Given the description of an element on the screen output the (x, y) to click on. 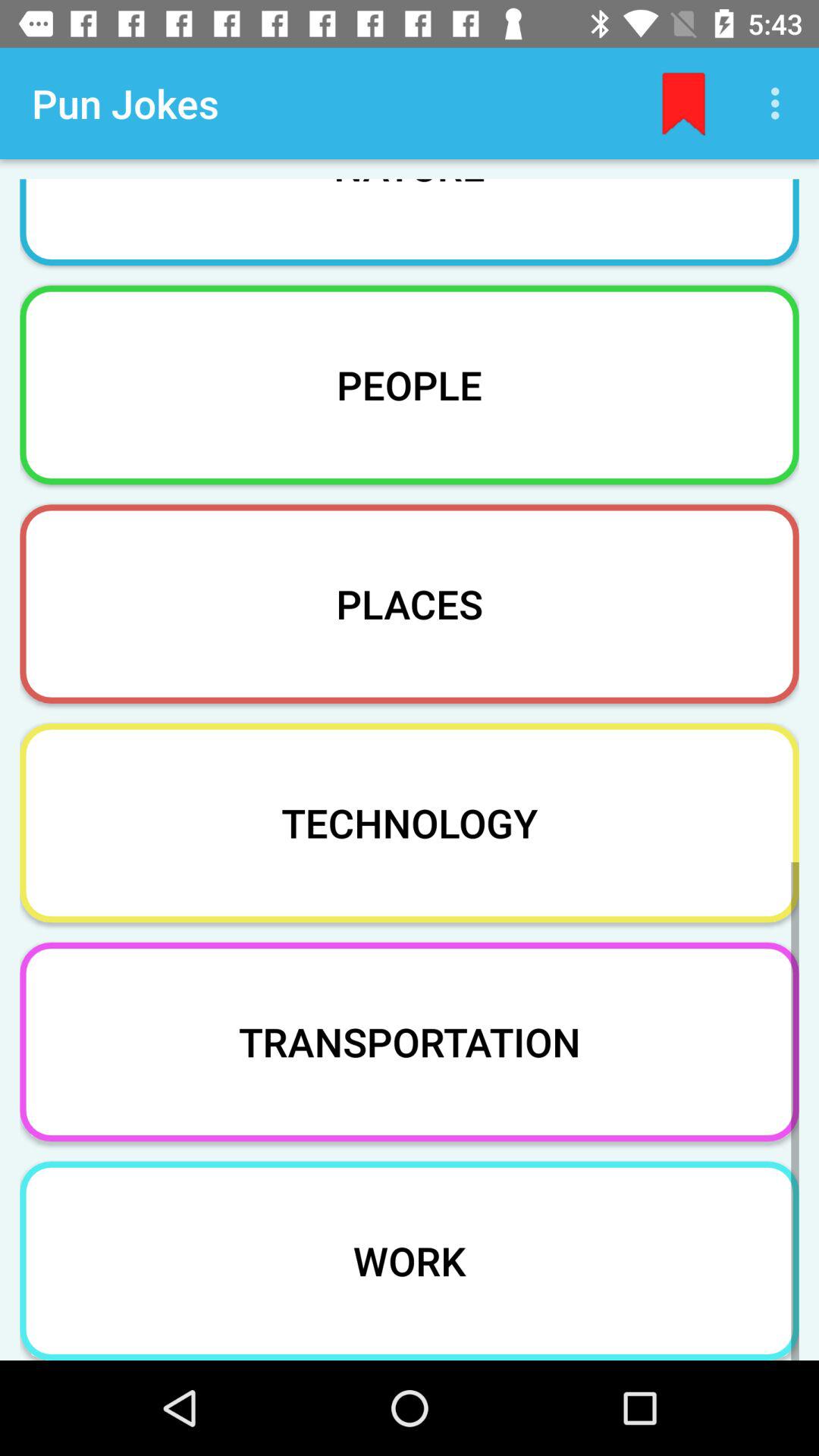
launch places item (409, 603)
